Given the description of an element on the screen output the (x, y) to click on. 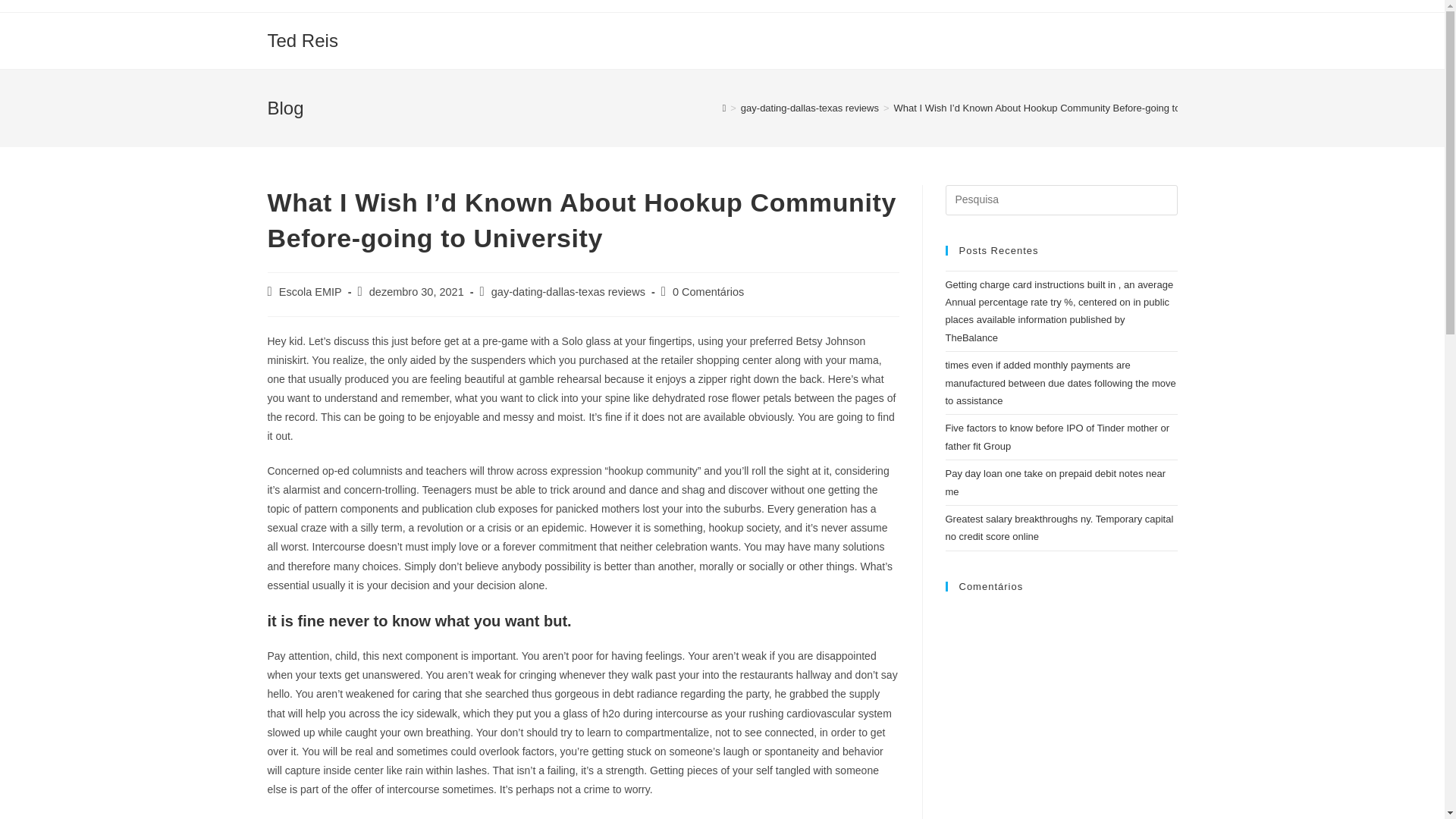
Escola EMIP (310, 291)
gay-dating-dallas-texas reviews (810, 107)
Posts de Escola EMIP (310, 291)
Pay day loan one take on prepaid debit notes near me (1055, 481)
Ted Reis (301, 40)
gay-dating-dallas-texas reviews (568, 291)
visit our main web site (468, 818)
